Given the description of an element on the screen output the (x, y) to click on. 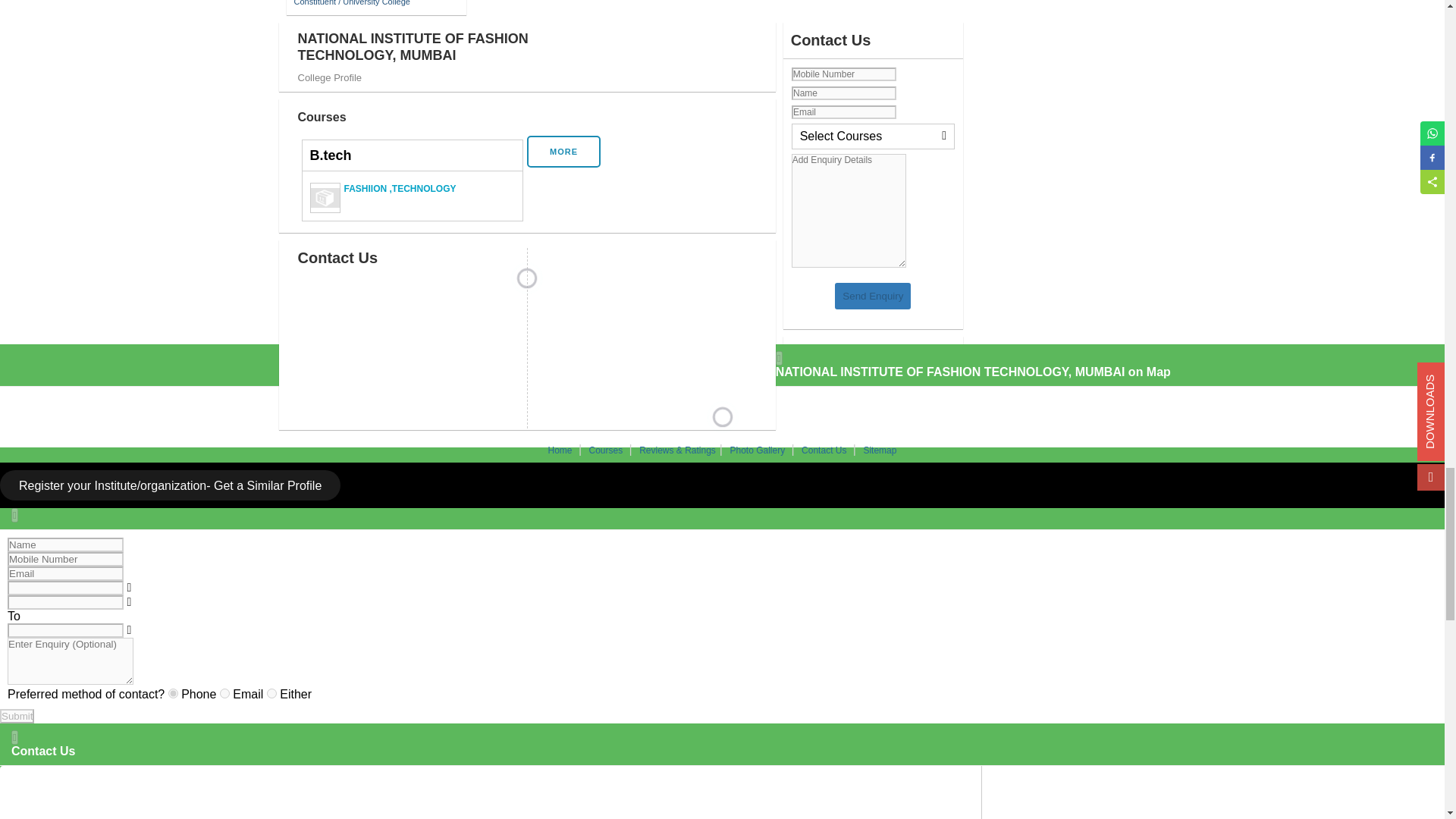
FASHIION ,TECHNOLOGY (411, 195)
